Given the description of an element on the screen output the (x, y) to click on. 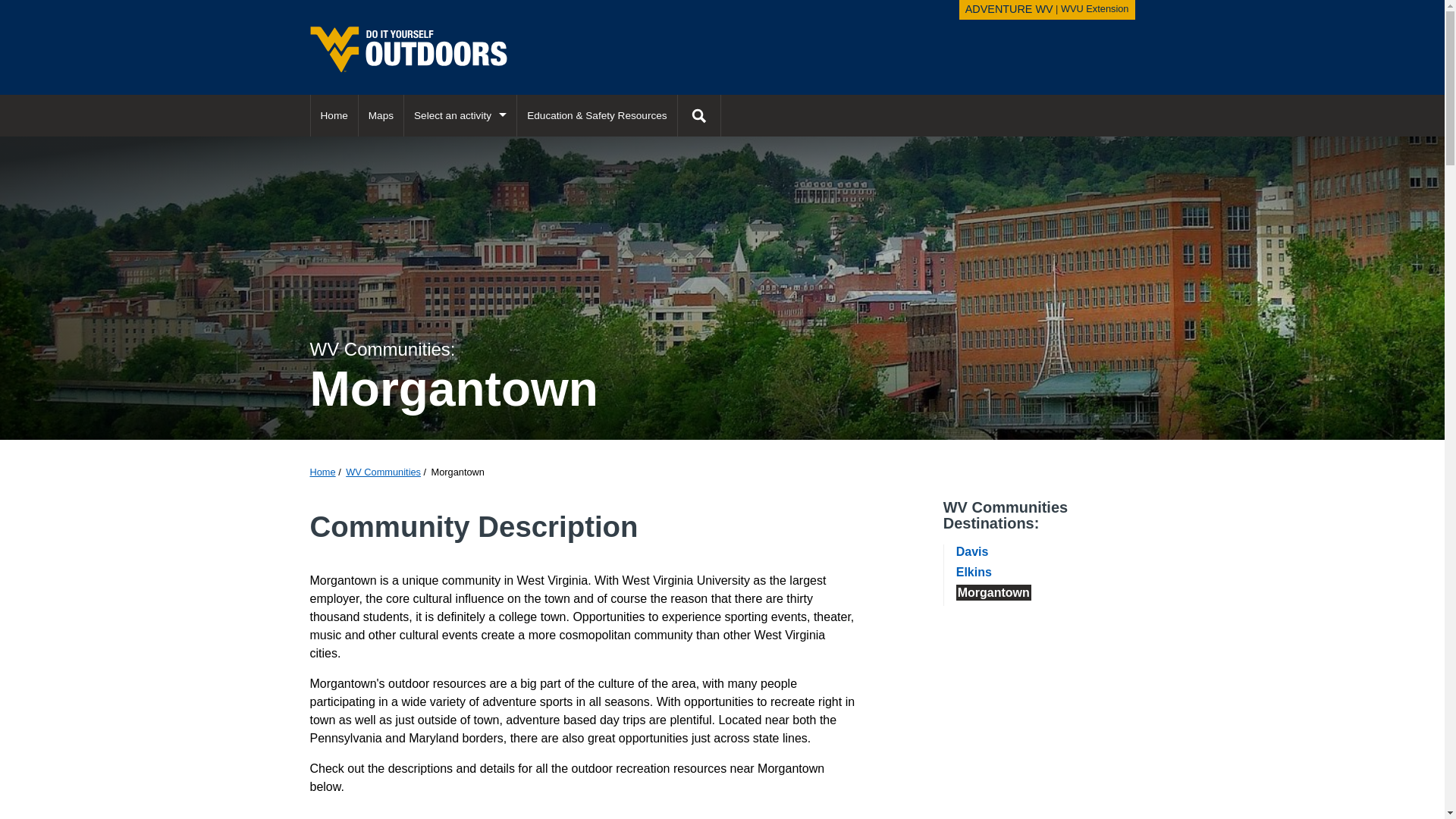
Home (333, 115)
Elkins (973, 571)
WV Communities (383, 471)
Home (321, 471)
Maps (381, 115)
Skip to main content (11, 11)
Select an activity (699, 115)
ADVENTURE WV (460, 115)
Davis (1008, 9)
Search Search DIY Outdoors (972, 551)
WVU Extension (698, 115)
Morgantown (1095, 8)
